Given the description of an element on the screen output the (x, y) to click on. 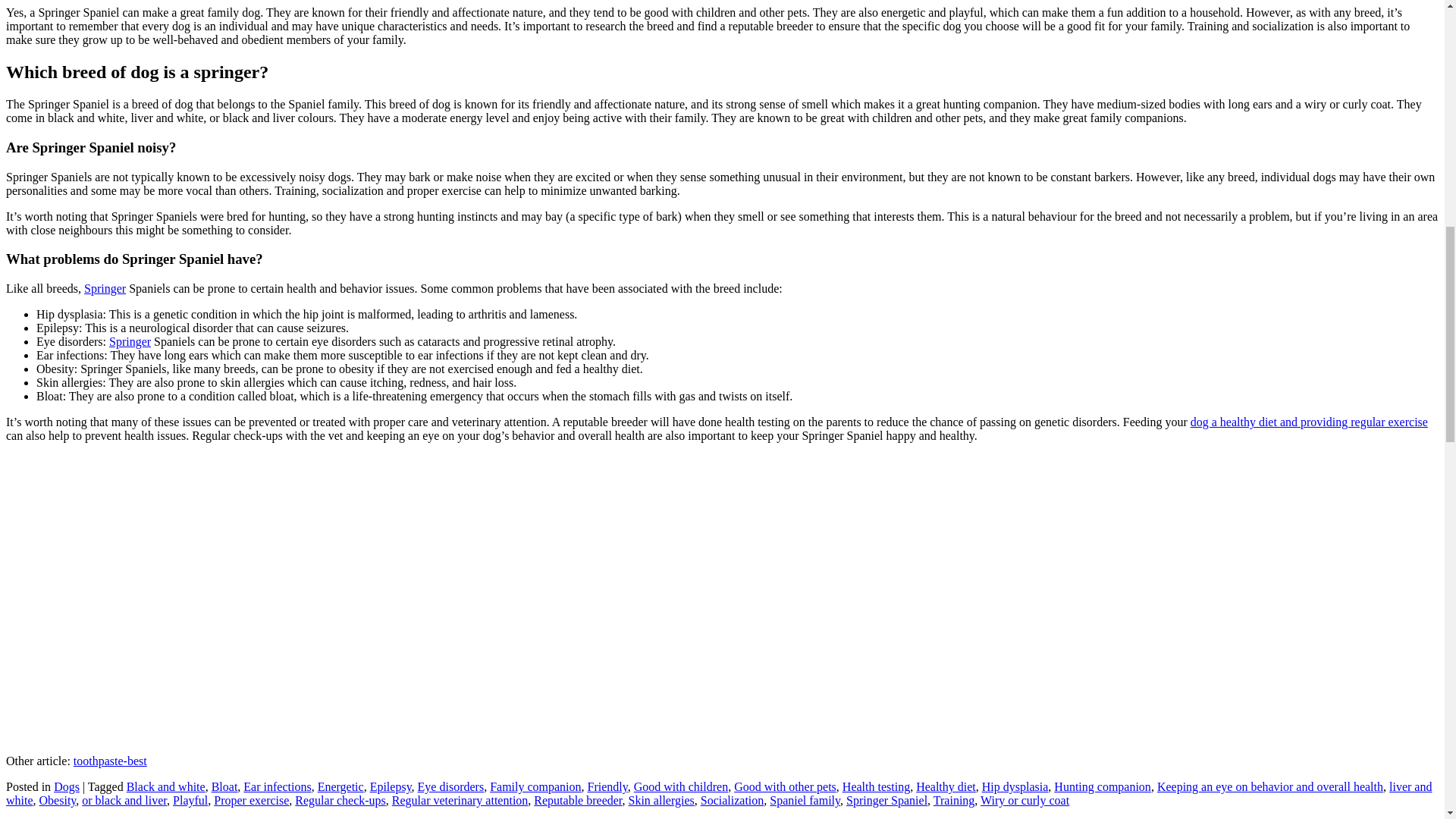
Healthy diet (945, 786)
Friendly (607, 786)
or black and liver (124, 799)
Dogs (66, 786)
Keeping an eye on behavior and overall health (1270, 786)
Playful (190, 799)
Ear infections (277, 786)
Energetic (340, 786)
Obesity (58, 799)
Springer (130, 341)
Black and white (165, 786)
Regular check-ups (340, 799)
liver and white (718, 793)
toothpaste-best (110, 760)
Good with other pets (784, 786)
